Given the description of an element on the screen output the (x, y) to click on. 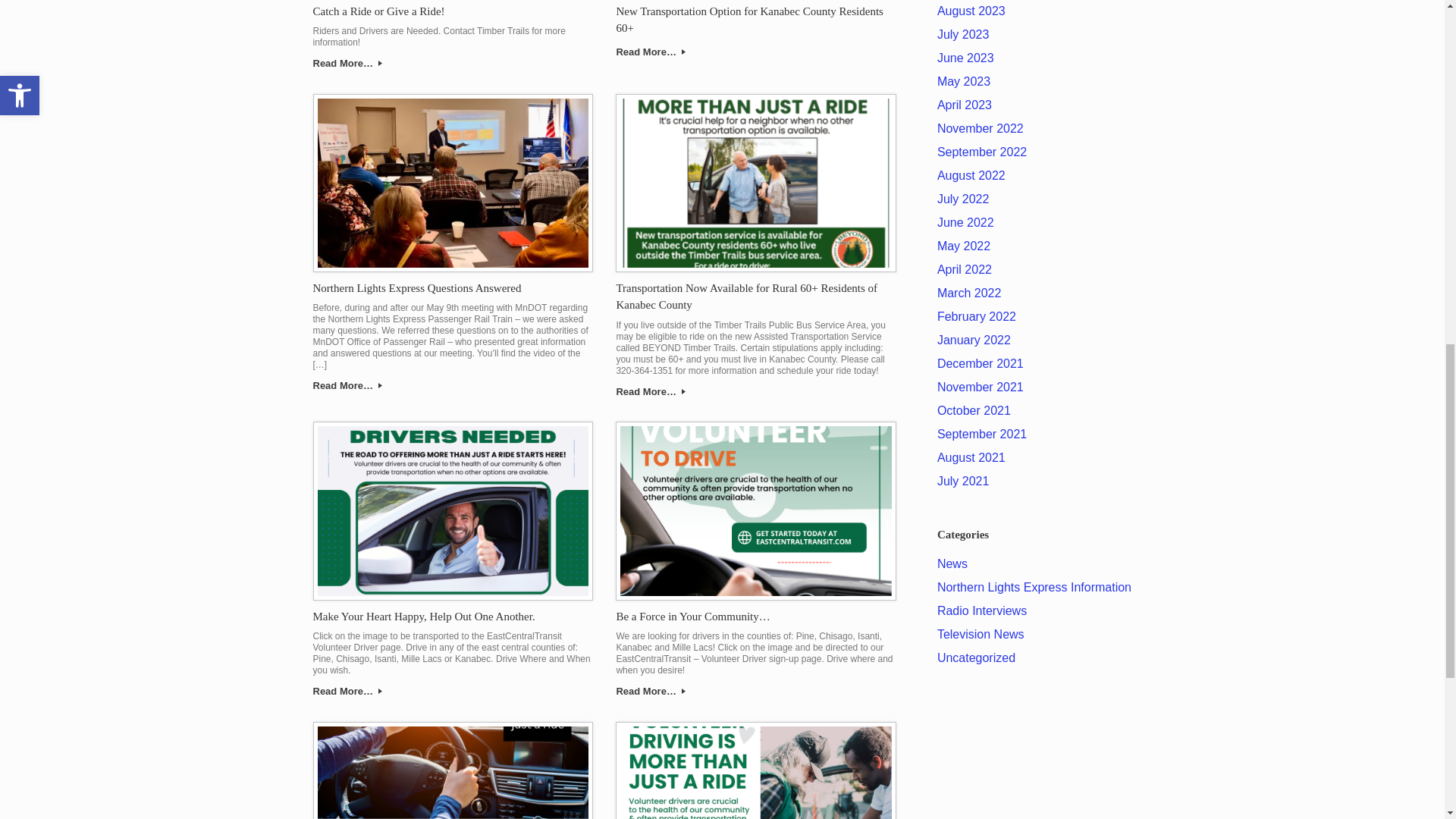
Make Your Heart Happy, Help Out One Another. (423, 616)
Catch a Ride or Give a Ride! (378, 10)
Northern Lights Express Questions Answered (417, 287)
